Given the description of an element on the screen output the (x, y) to click on. 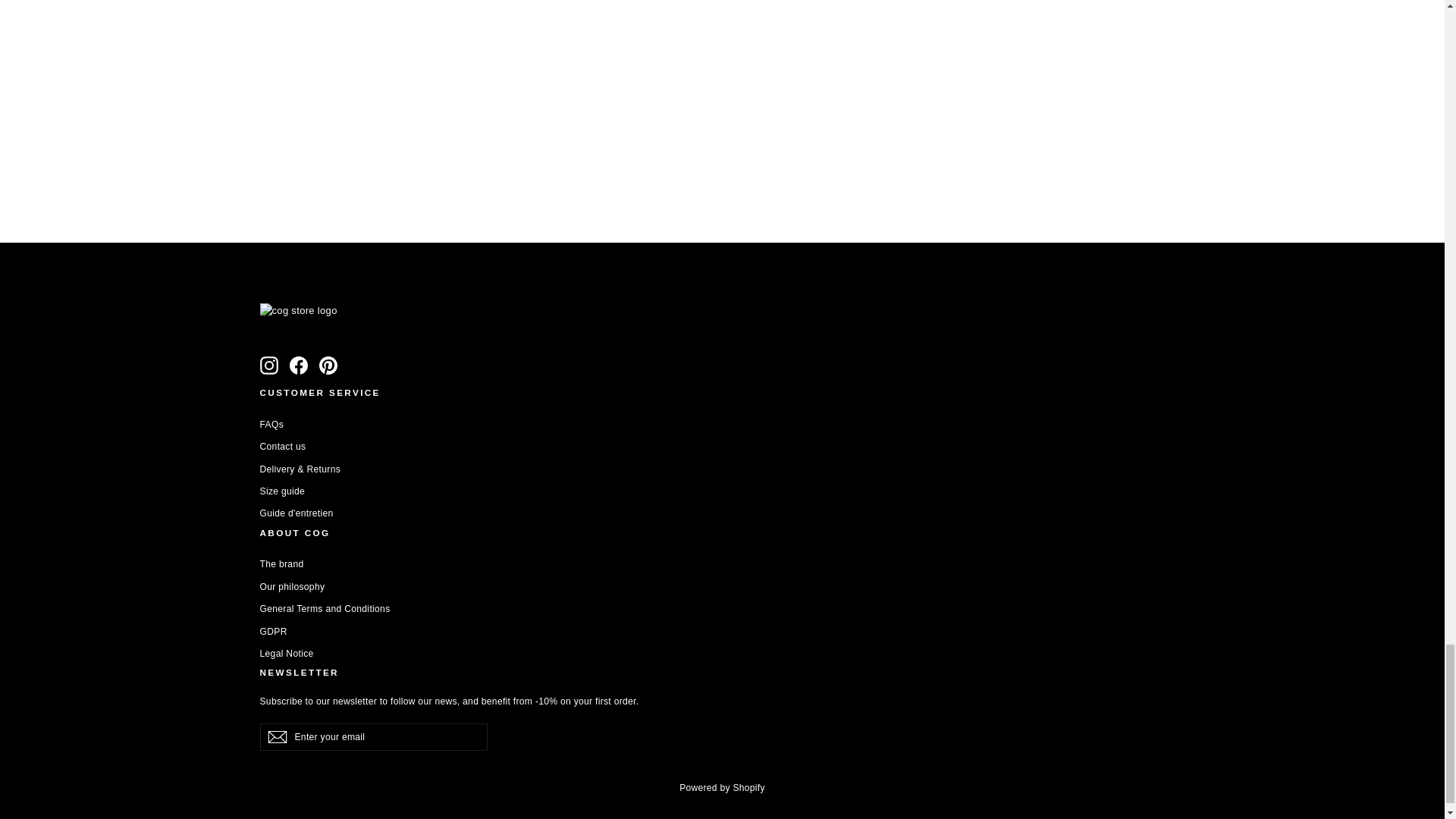
COG Store on Pinterest (327, 365)
COG Store on Facebook (298, 365)
COG Store on Instagram (268, 365)
